Given the description of an element on the screen output the (x, y) to click on. 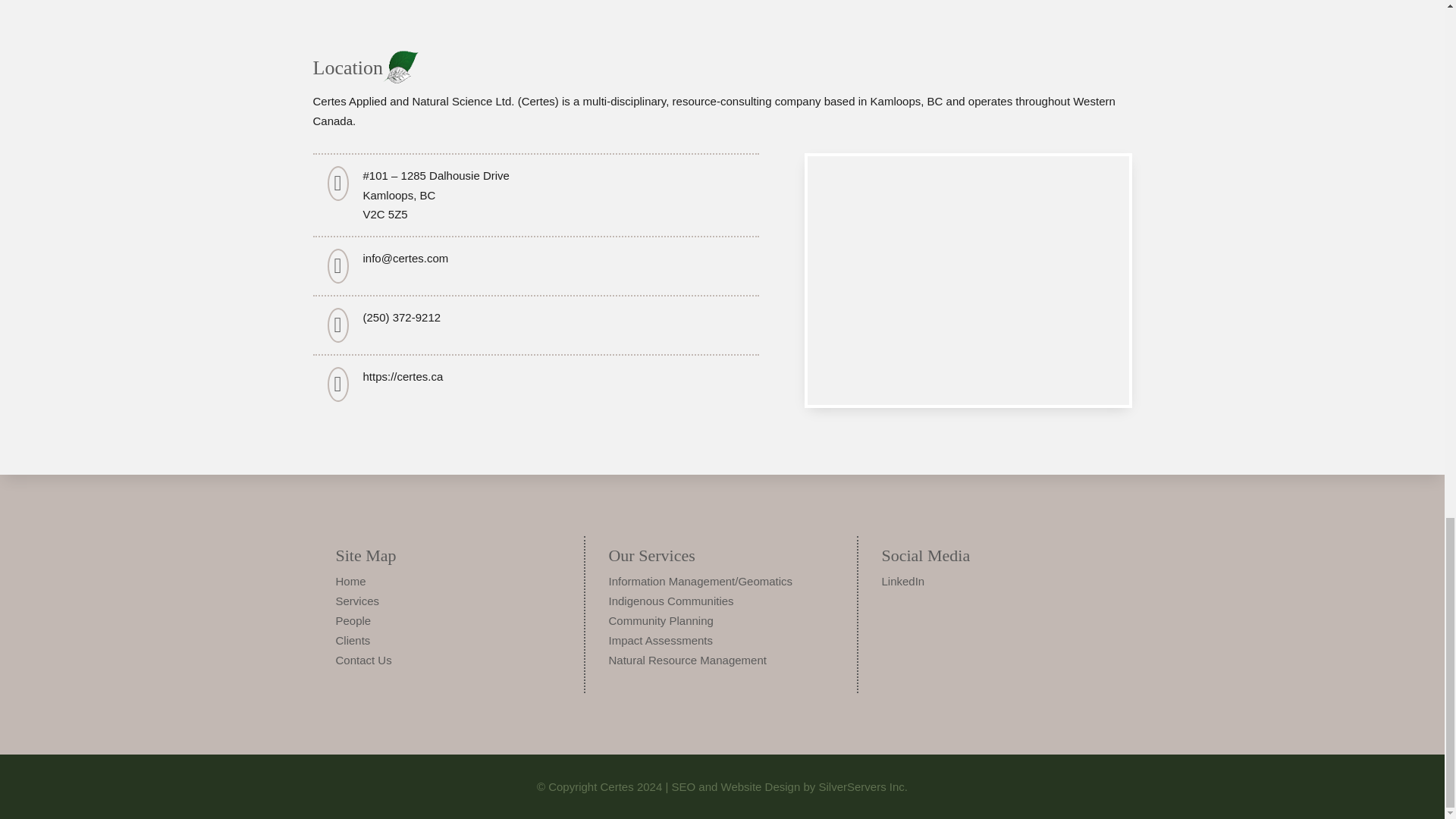
Contact Us (362, 659)
People (352, 620)
Clients (351, 640)
Services (356, 600)
Indigenous Communities (670, 600)
Community Planning (660, 620)
Home (349, 581)
